Given the description of an element on the screen output the (x, y) to click on. 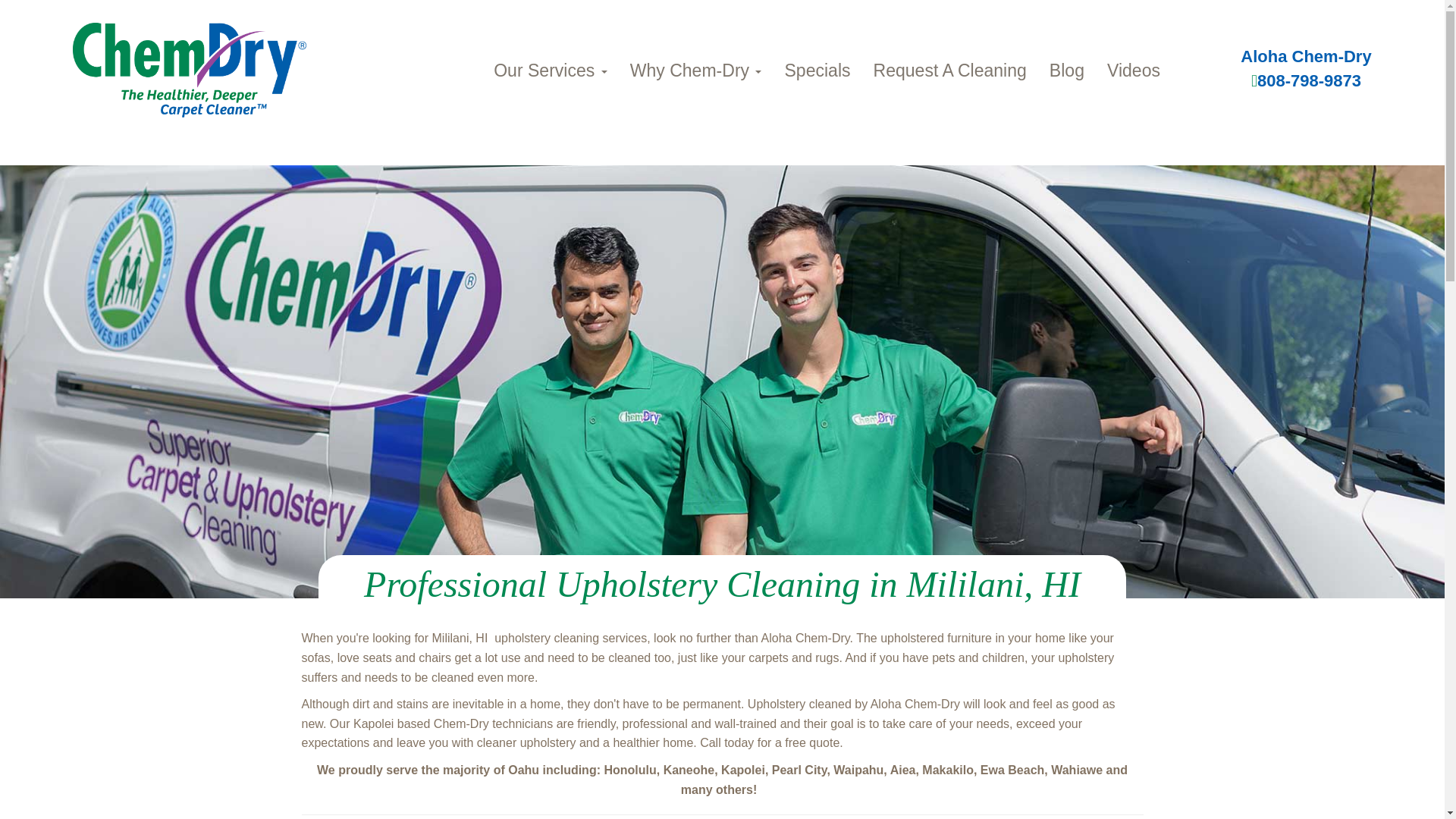
Skip to main content (55, 124)
Videos (1134, 70)
Request A Cleaning (949, 70)
Aloha Chem-Dry of Kapolei, Hawaii Logo (188, 69)
Blog (1067, 70)
Our Services (549, 70)
808-798-9873 (1305, 80)
Why Chem-Dry (695, 70)
Call Aloha Chem-Dry (1305, 80)
Specials (817, 70)
